Given the description of an element on the screen output the (x, y) to click on. 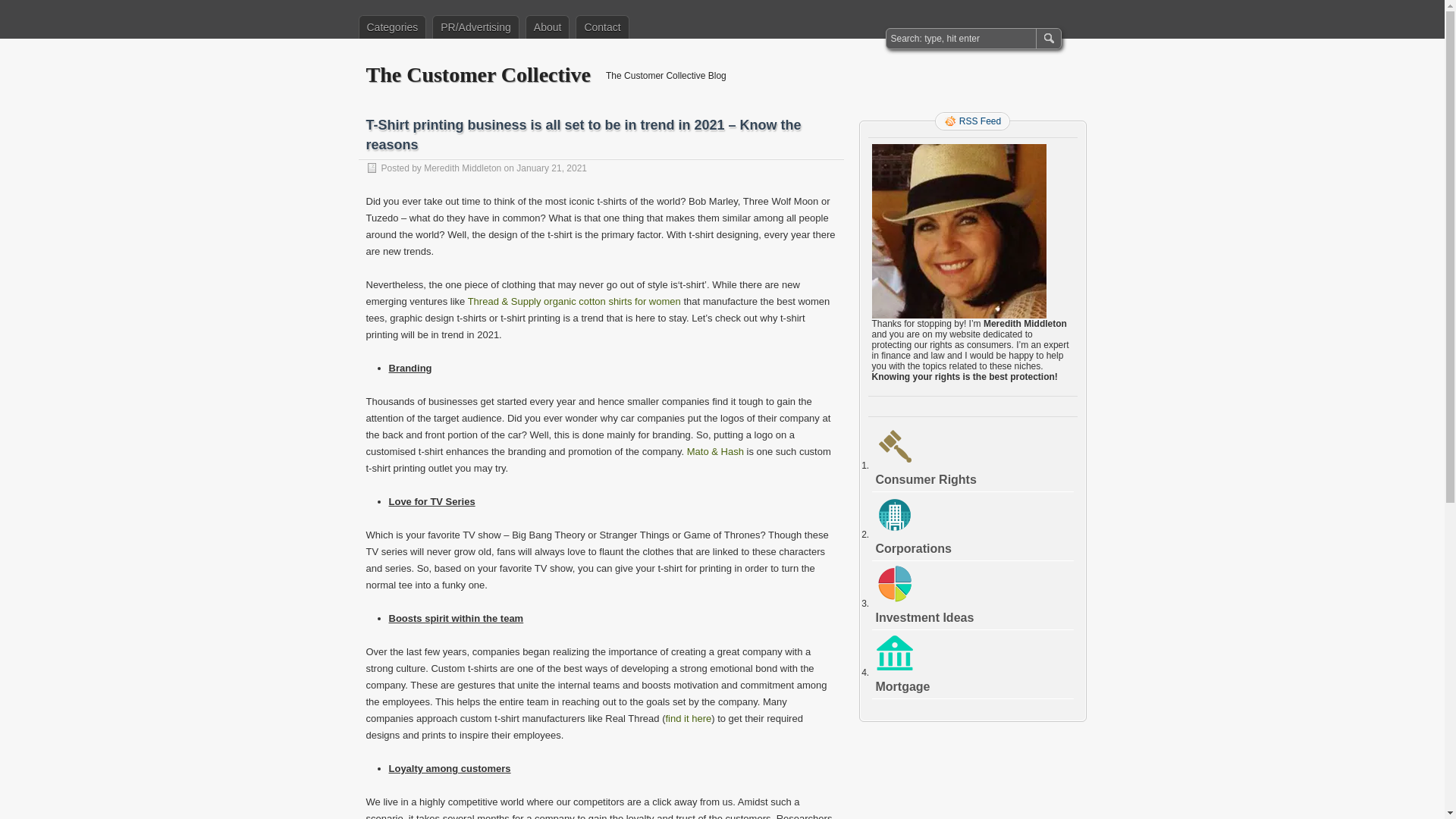
About (547, 26)
SEARCH (1047, 38)
View all posts by Meredith Middleton (461, 167)
Categories (392, 26)
RSS Feed (972, 120)
Search: type, hit enter (962, 38)
SEARCH (1047, 38)
Meredith Middleton (461, 167)
Contact (601, 26)
RSS Feed (972, 120)
